Given the description of an element on the screen output the (x, y) to click on. 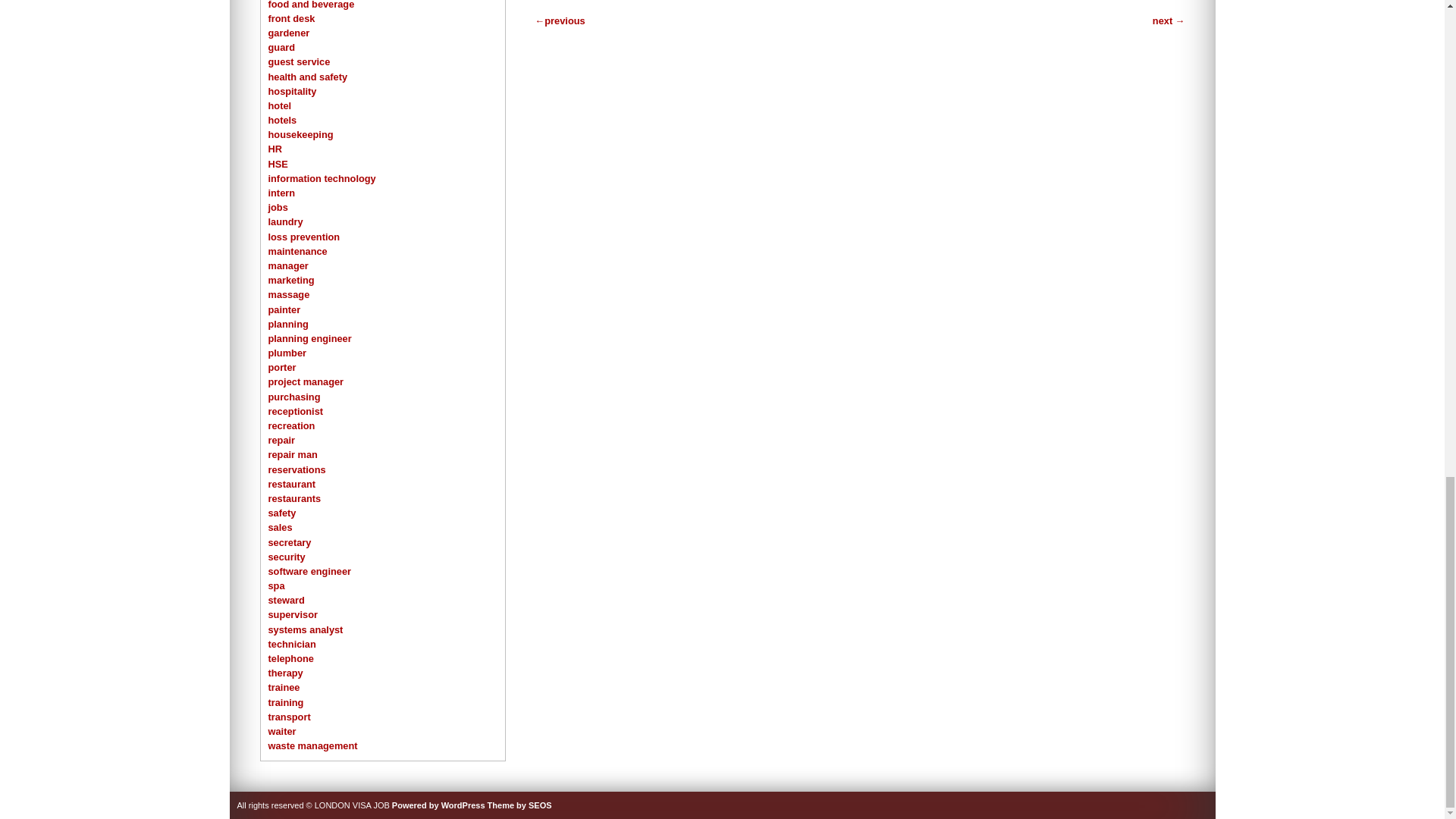
Seos free wordpress themes (519, 804)
